Given the description of an element on the screen output the (x, y) to click on. 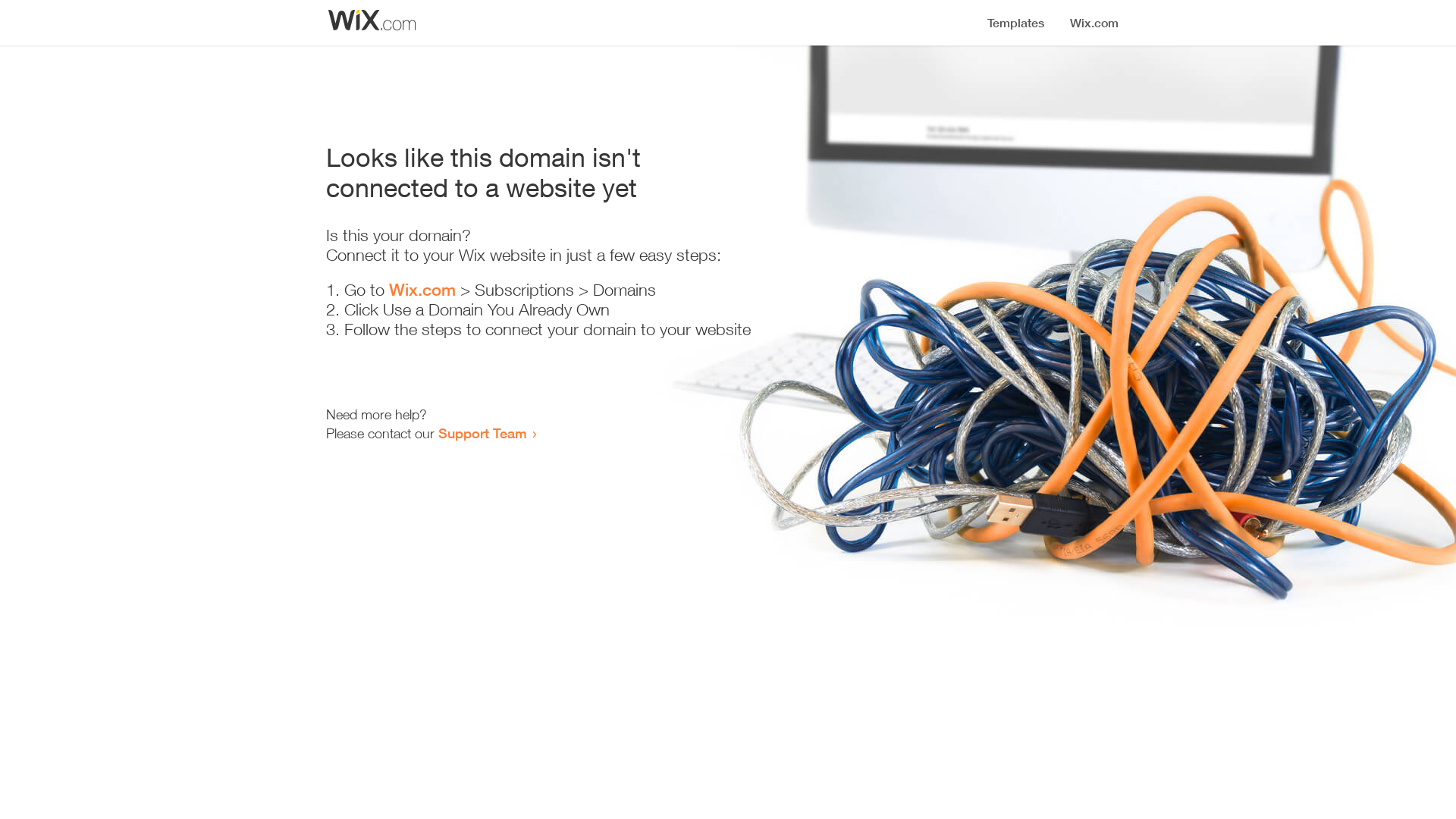
Support Team Element type: text (482, 432)
Wix.com Element type: text (422, 289)
